Given the description of an element on the screen output the (x, y) to click on. 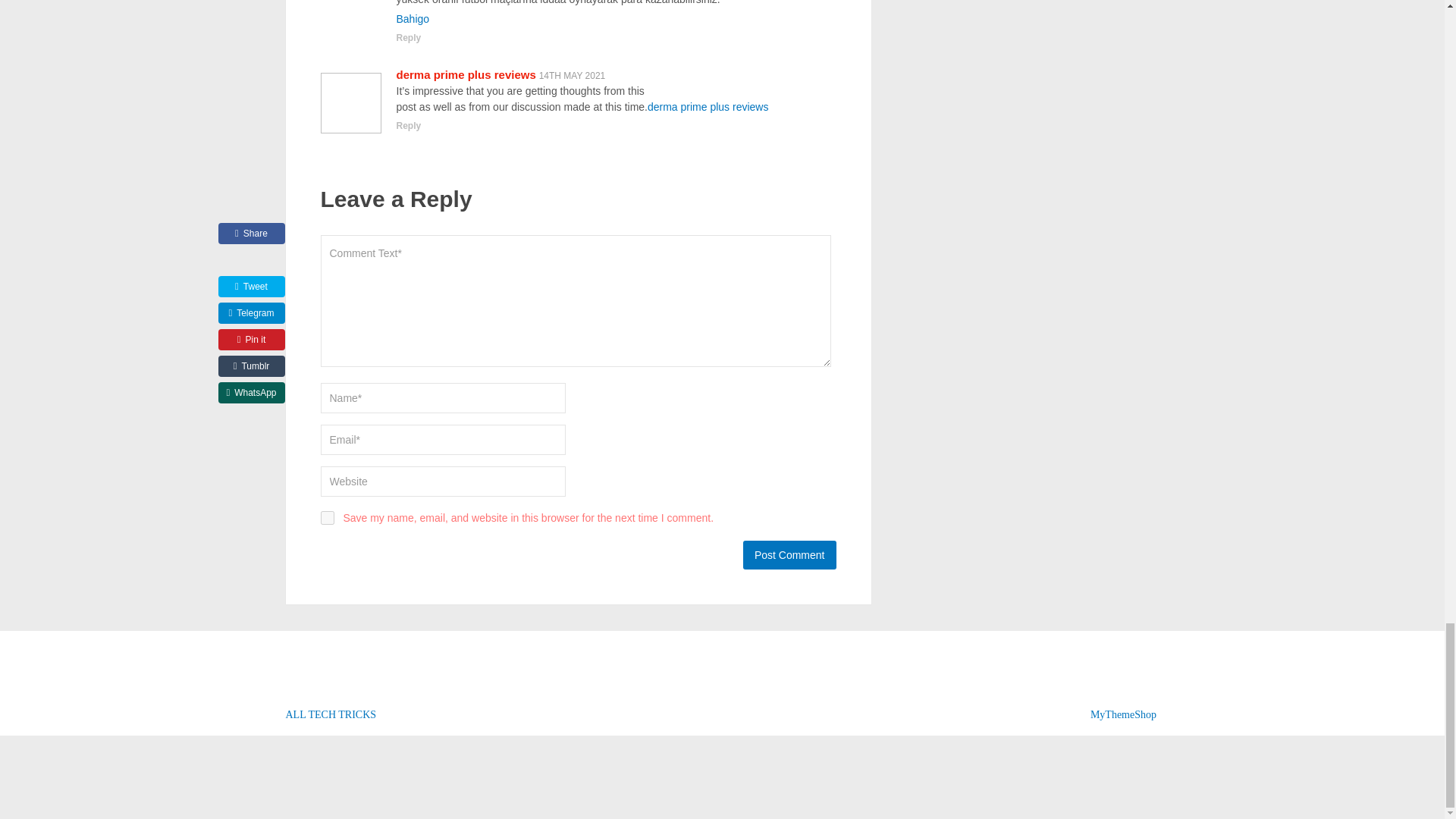
Post Comment (788, 554)
yes (326, 517)
